Given the description of an element on the screen output the (x, y) to click on. 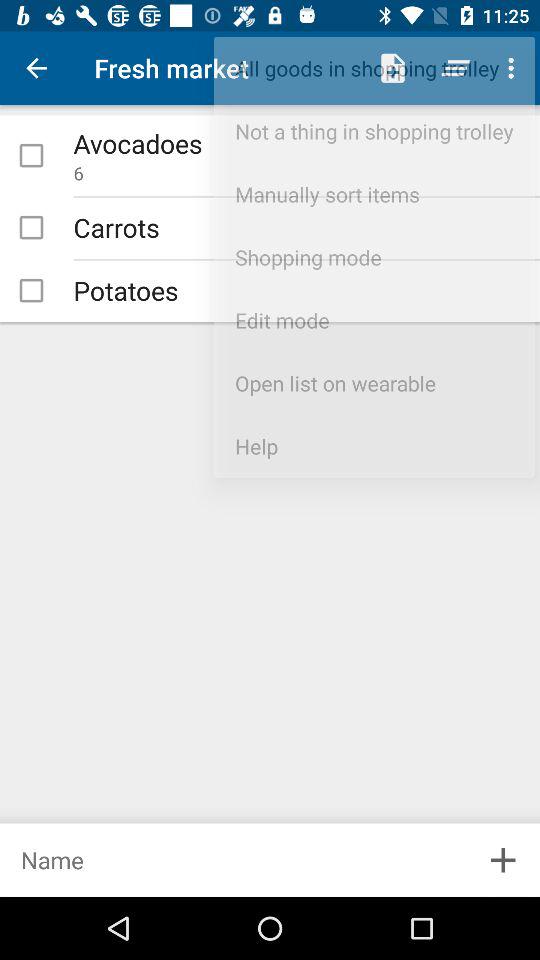
advertisement page (233, 860)
